Given the description of an element on the screen output the (x, y) to click on. 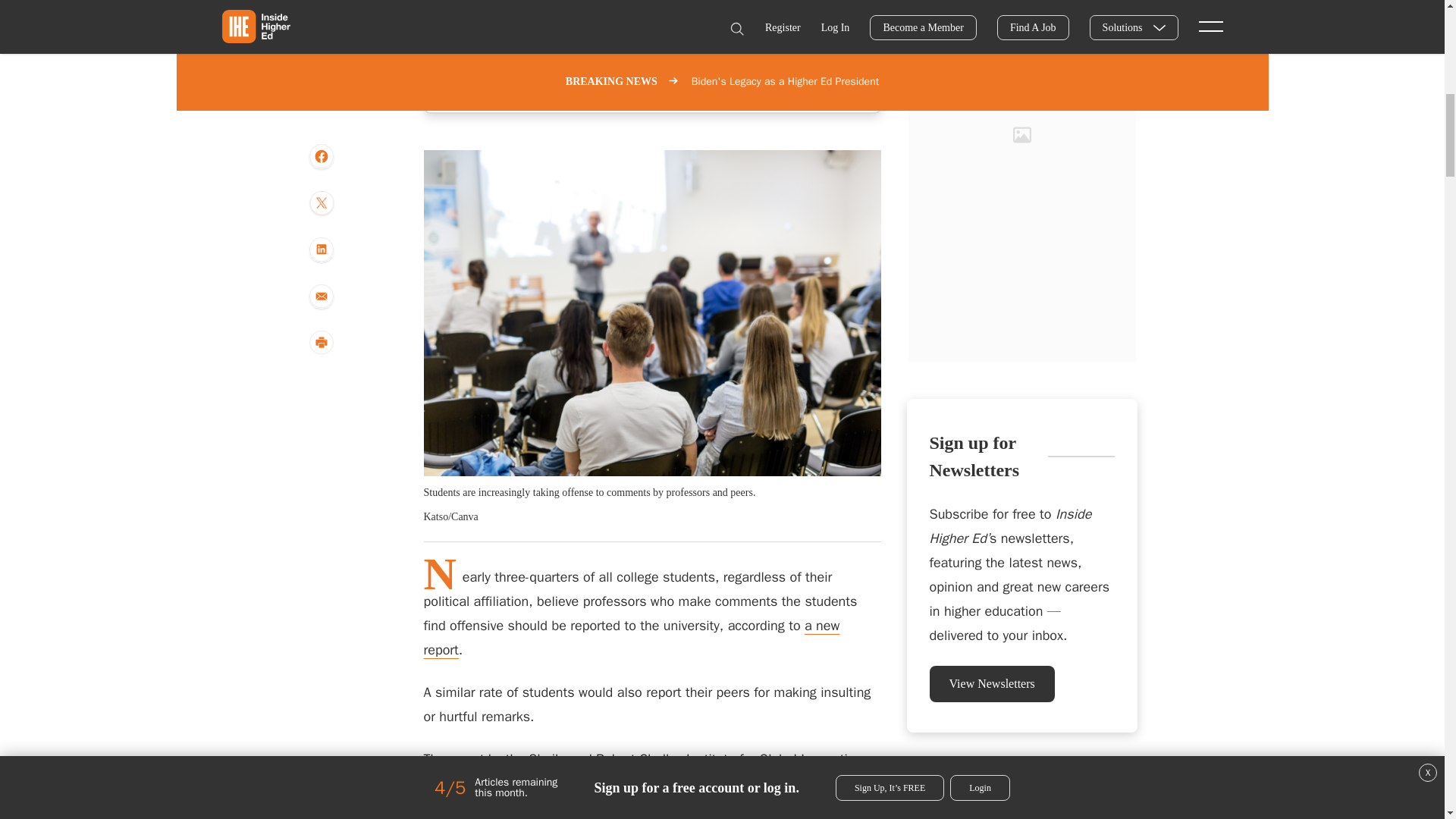
share to Linkedin (320, 1)
share by email (320, 36)
